Given the description of an element on the screen output the (x, y) to click on. 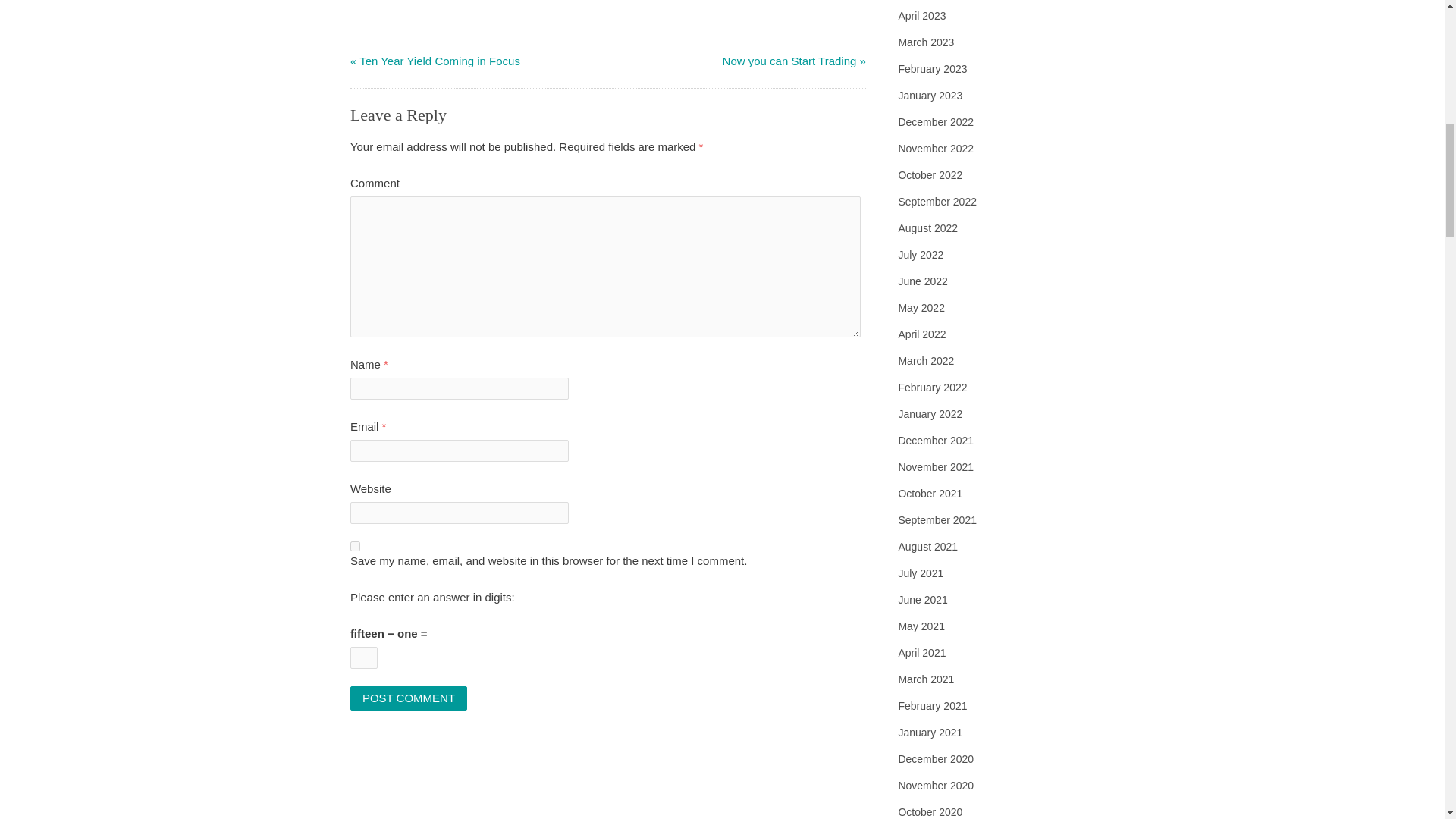
yes (354, 546)
Now you can Start Trading (789, 60)
Ten Year Yield Coming in Focus (439, 60)
Post Comment (408, 698)
